Given the description of an element on the screen output the (x, y) to click on. 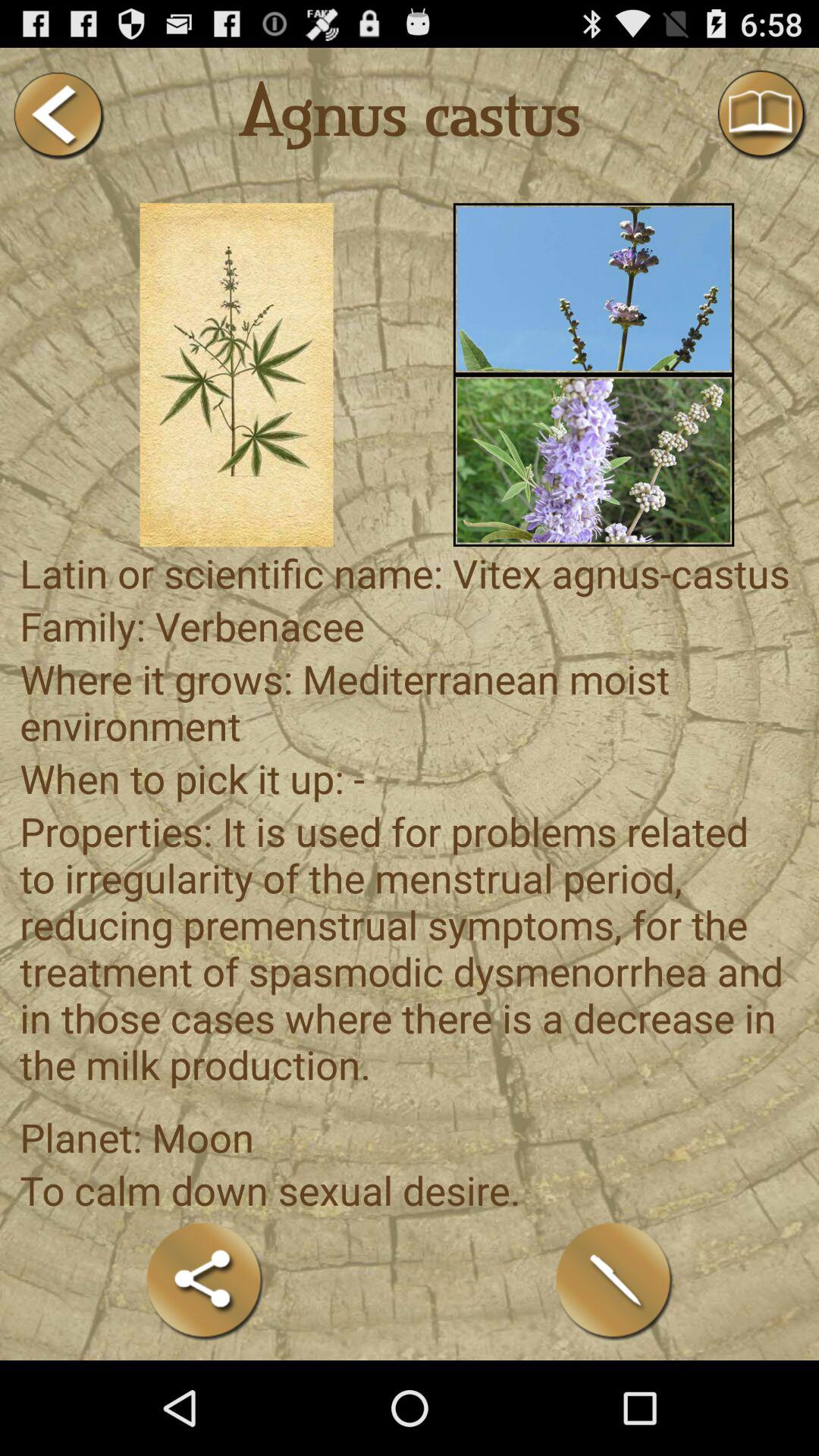
create post (614, 1280)
